Given the description of an element on the screen output the (x, y) to click on. 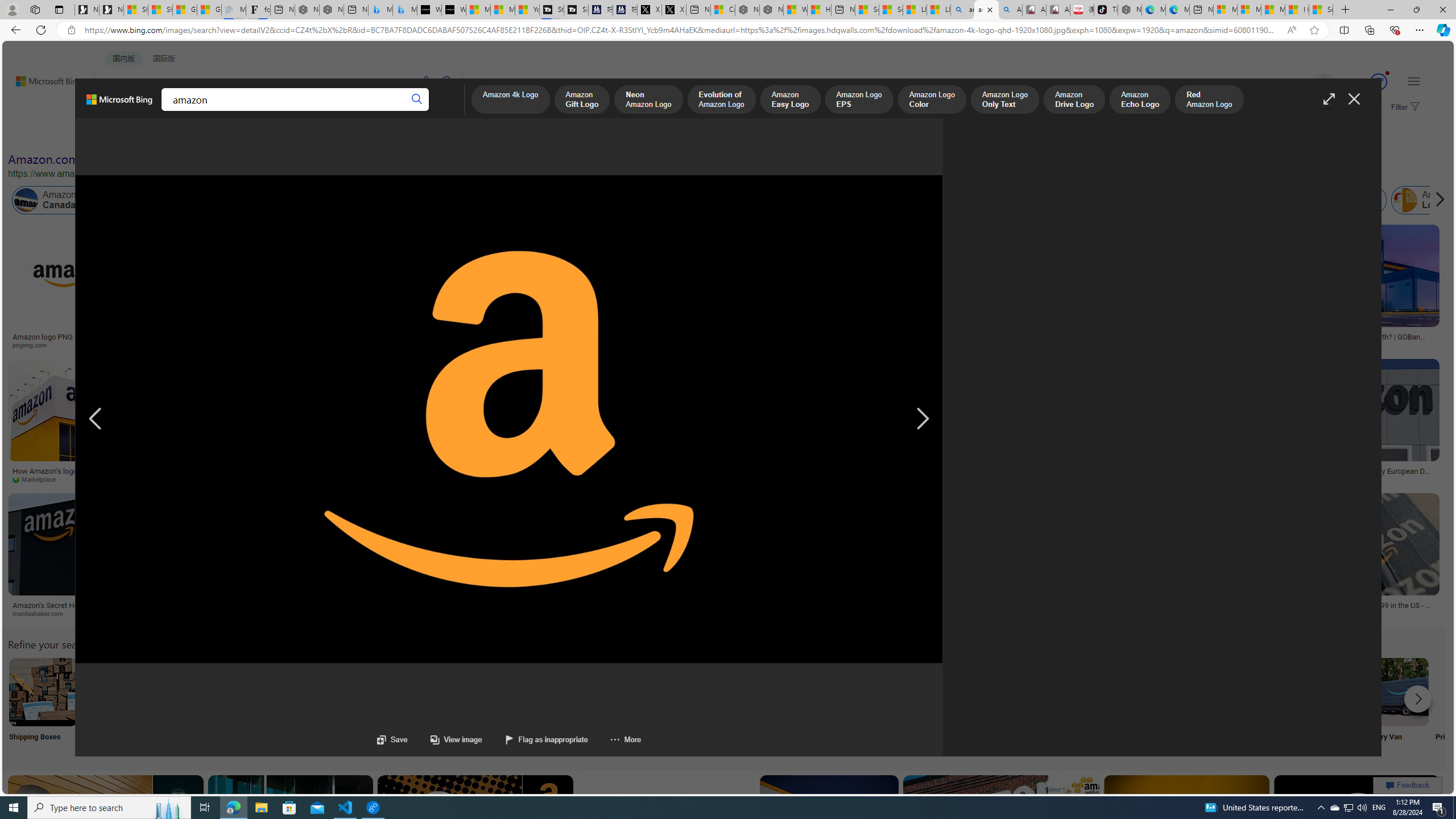
Neon Amazon Logo (647, 100)
Dropdown Menu (443, 111)
Amazon App Store Download (1319, 691)
aiophotoz.com (1200, 479)
Amazon Log into My Account (268, 691)
Alexa Smart Home Devices (617, 332)
Amazon Online Store Online Store (644, 706)
Amazon Animals (426, 199)
Amazon Logo (PNG e SVG) Download Vetorial Transparente (719, 340)
Amazon Retail Store (493, 691)
Amazon.com.au (923, 199)
